Given the description of an element on the screen output the (x, y) to click on. 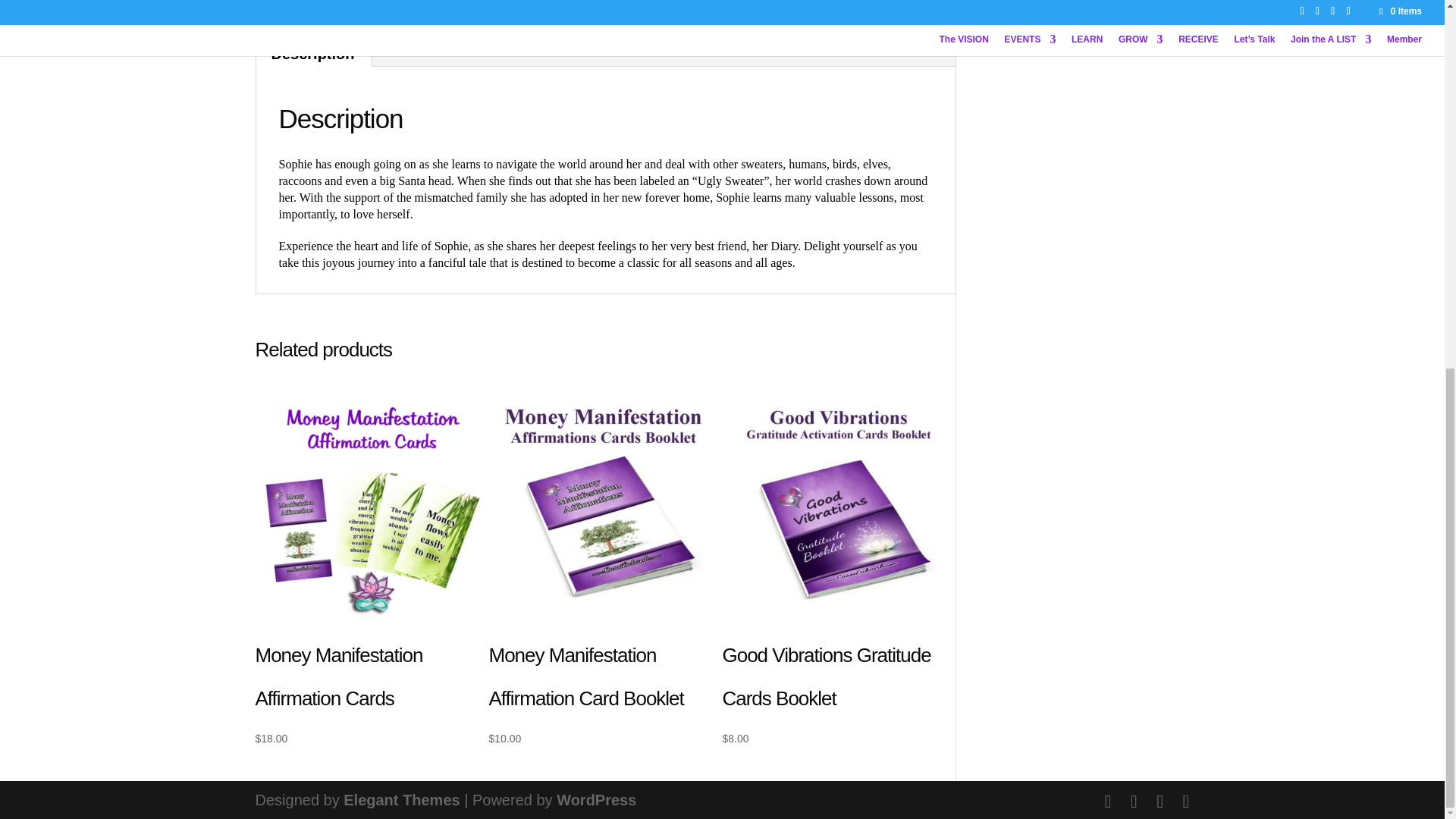
Premium WordPress Themes (401, 799)
